Given the description of an element on the screen output the (x, y) to click on. 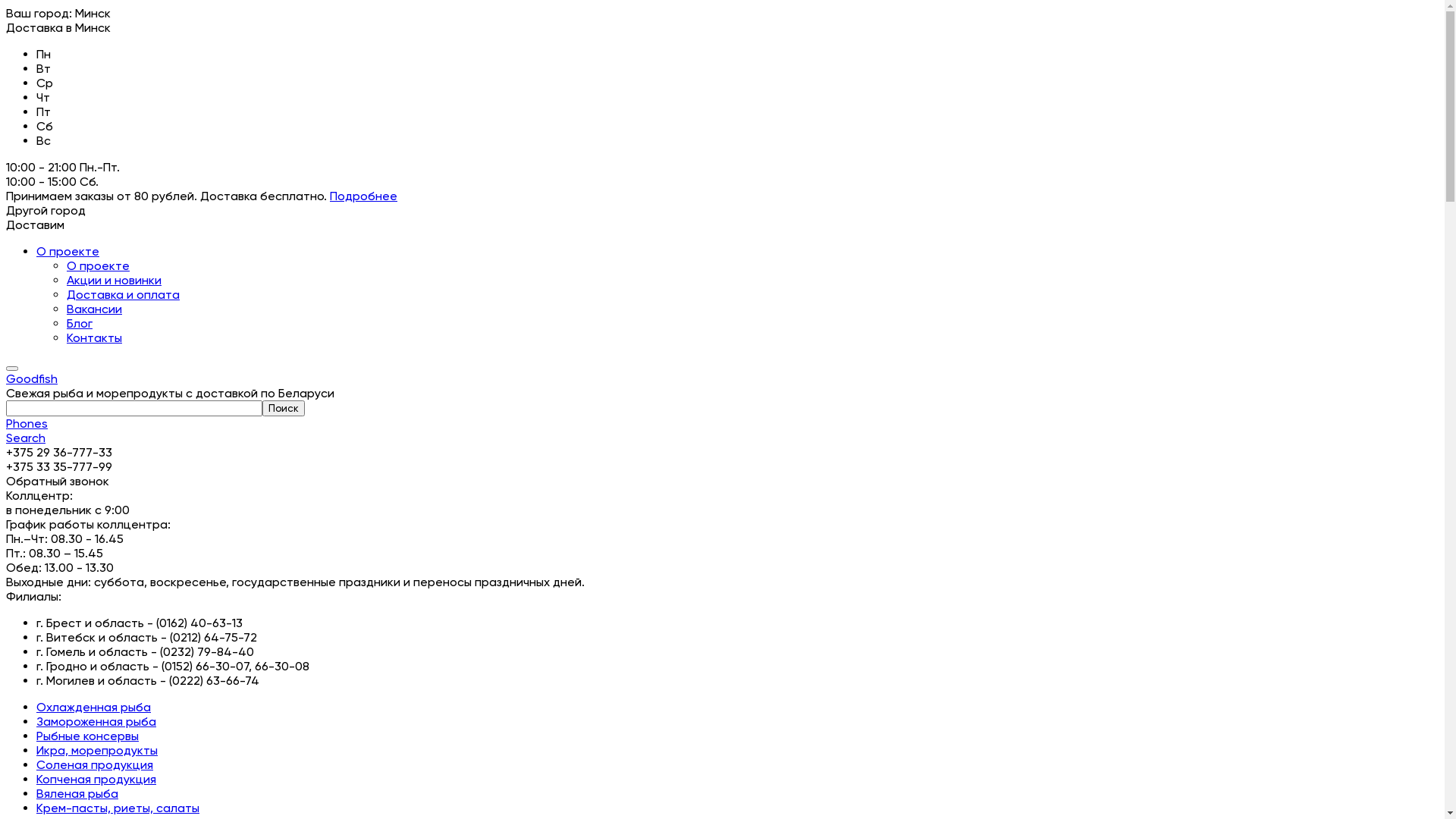
Phones Element type: text (26, 423)
Search Element type: text (25, 437)
Goodfish Element type: text (722, 378)
